Given the description of an element on the screen output the (x, y) to click on. 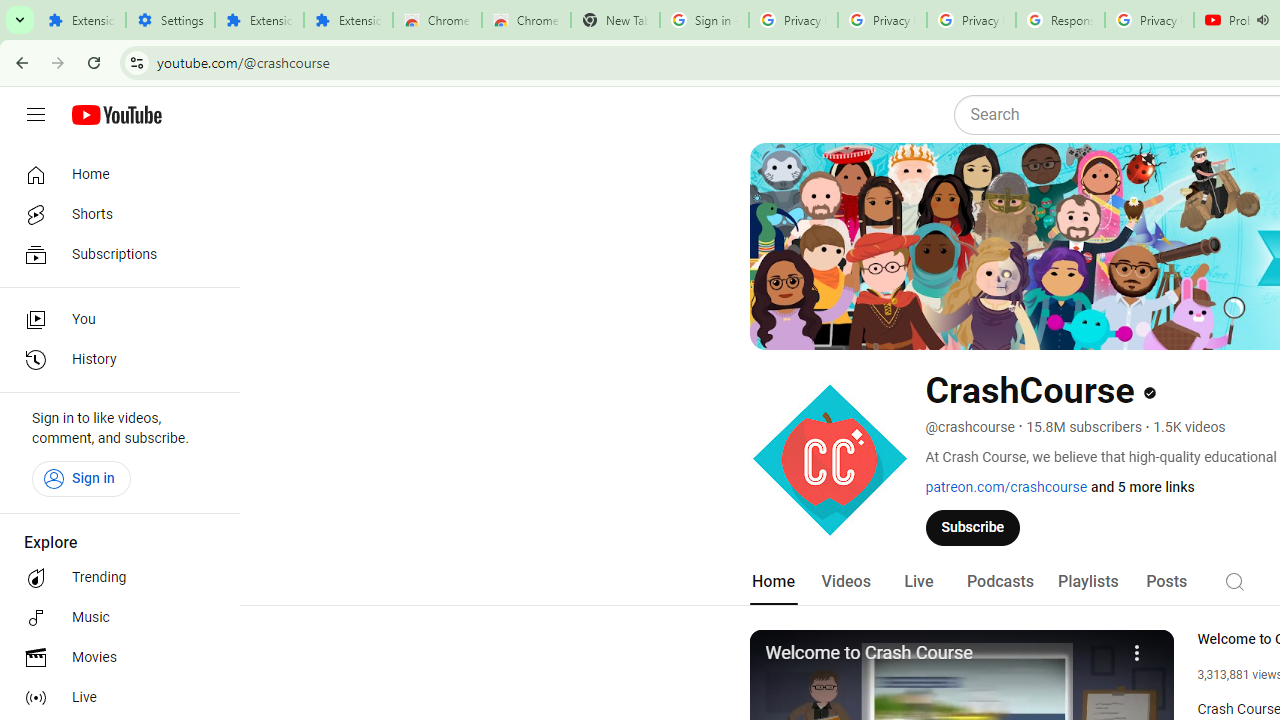
patreon.com/crashcourse (1006, 487)
Extensions (347, 20)
Posts (1165, 581)
Playlists (1088, 581)
Back (19, 62)
Sign in (81, 478)
Podcasts (1000, 581)
Chrome Web Store (437, 20)
Trending (113, 578)
Mute tab (1262, 20)
Search tabs (20, 20)
New Tab (615, 20)
Search (1233, 580)
Sign in - Google Accounts (704, 20)
